Given the description of an element on the screen output the (x, y) to click on. 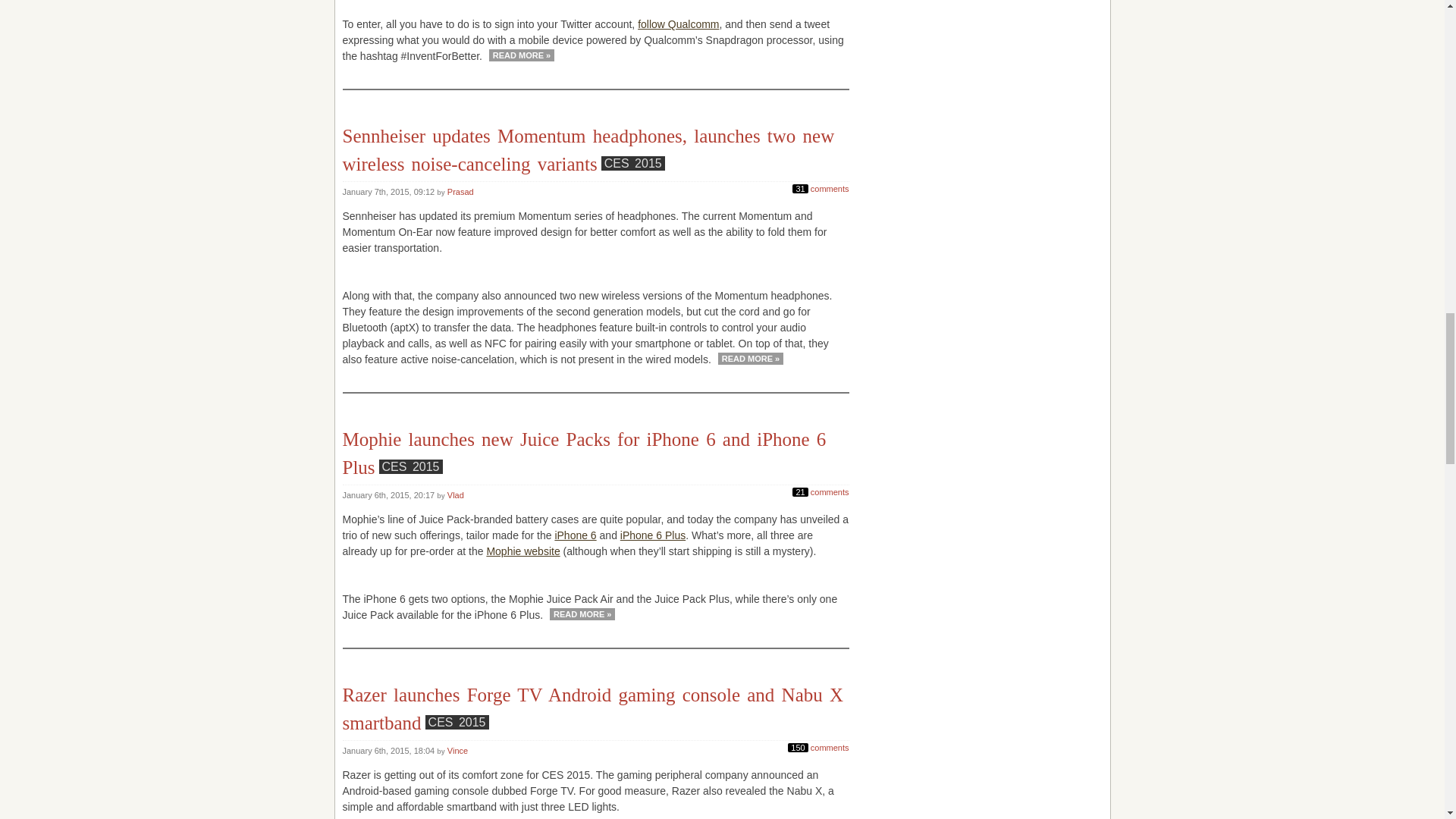
07 January 2015 9:12:54 AM (390, 191)
06 January 2015 18:04:07 PM (390, 750)
06 January 2015 20:17:06 PM (390, 494)
